Given the description of an element on the screen output the (x, y) to click on. 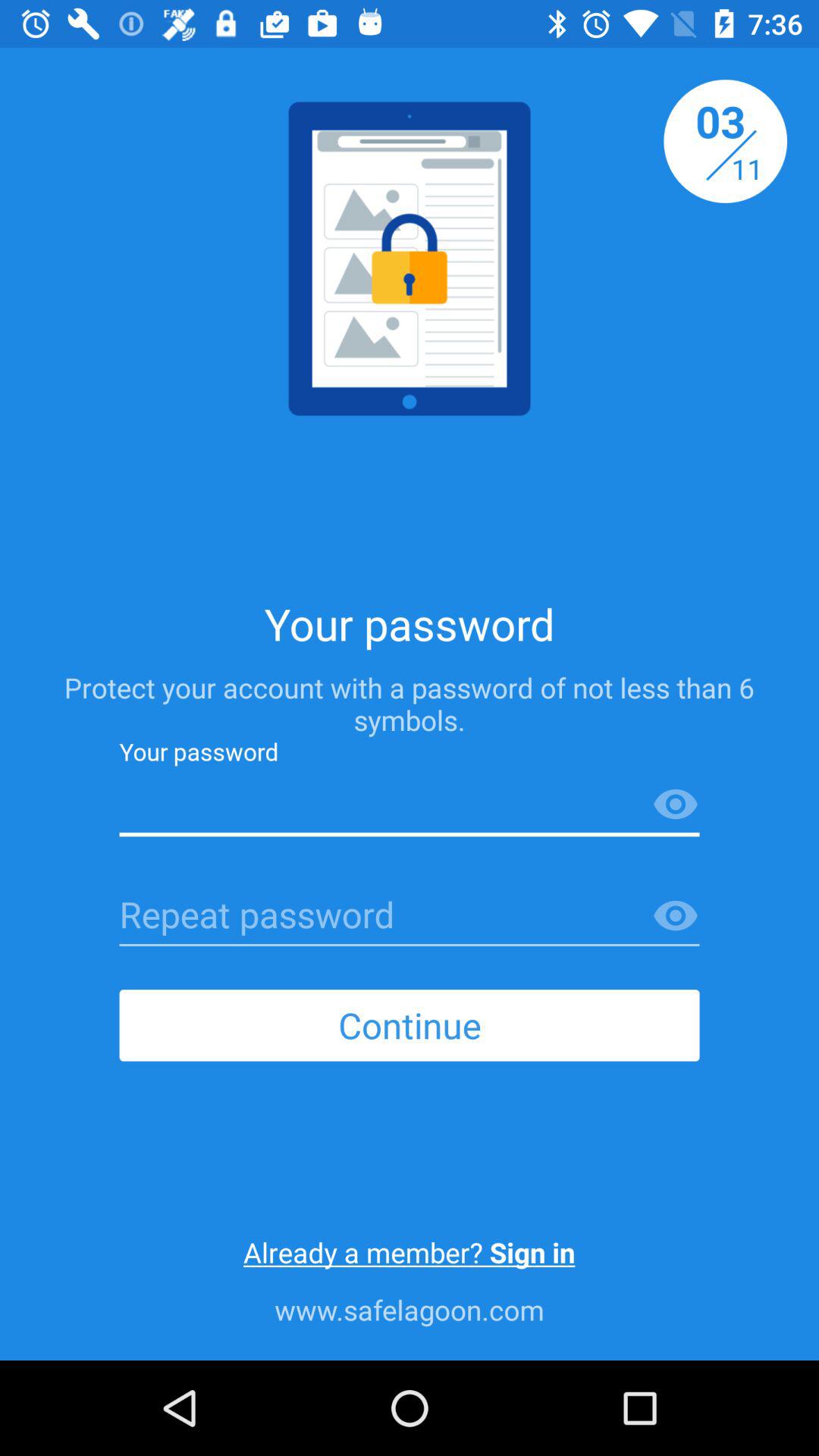
show password (675, 804)
